Given the description of an element on the screen output the (x, y) to click on. 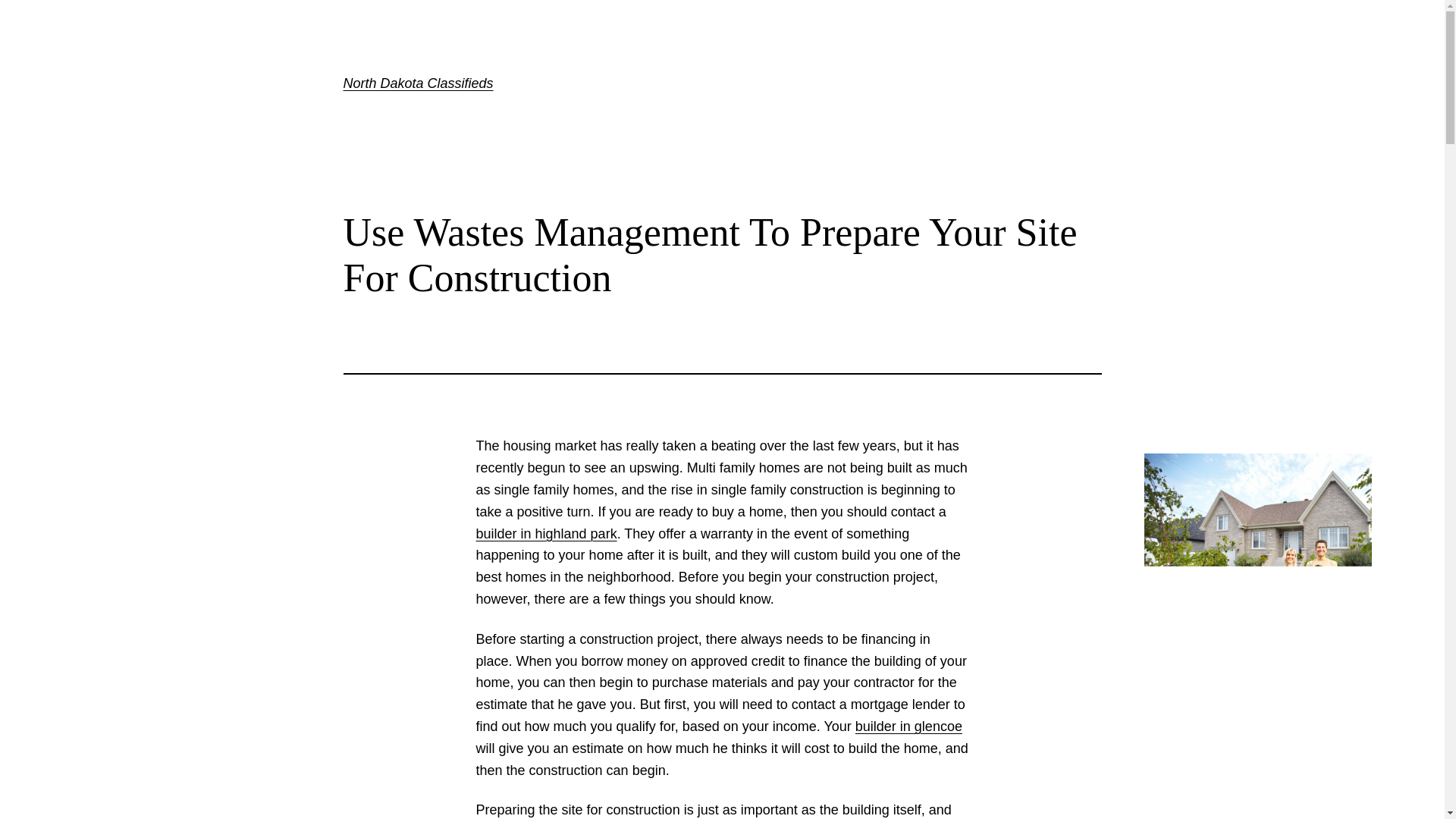
builder in highland park (546, 533)
Chicago remodeler, Custom homes inc (909, 726)
builder in glencoe (909, 726)
Learn the real scoop on Northshore home (546, 533)
North Dakota Classifieds (417, 83)
